Given the description of an element on the screen output the (x, y) to click on. 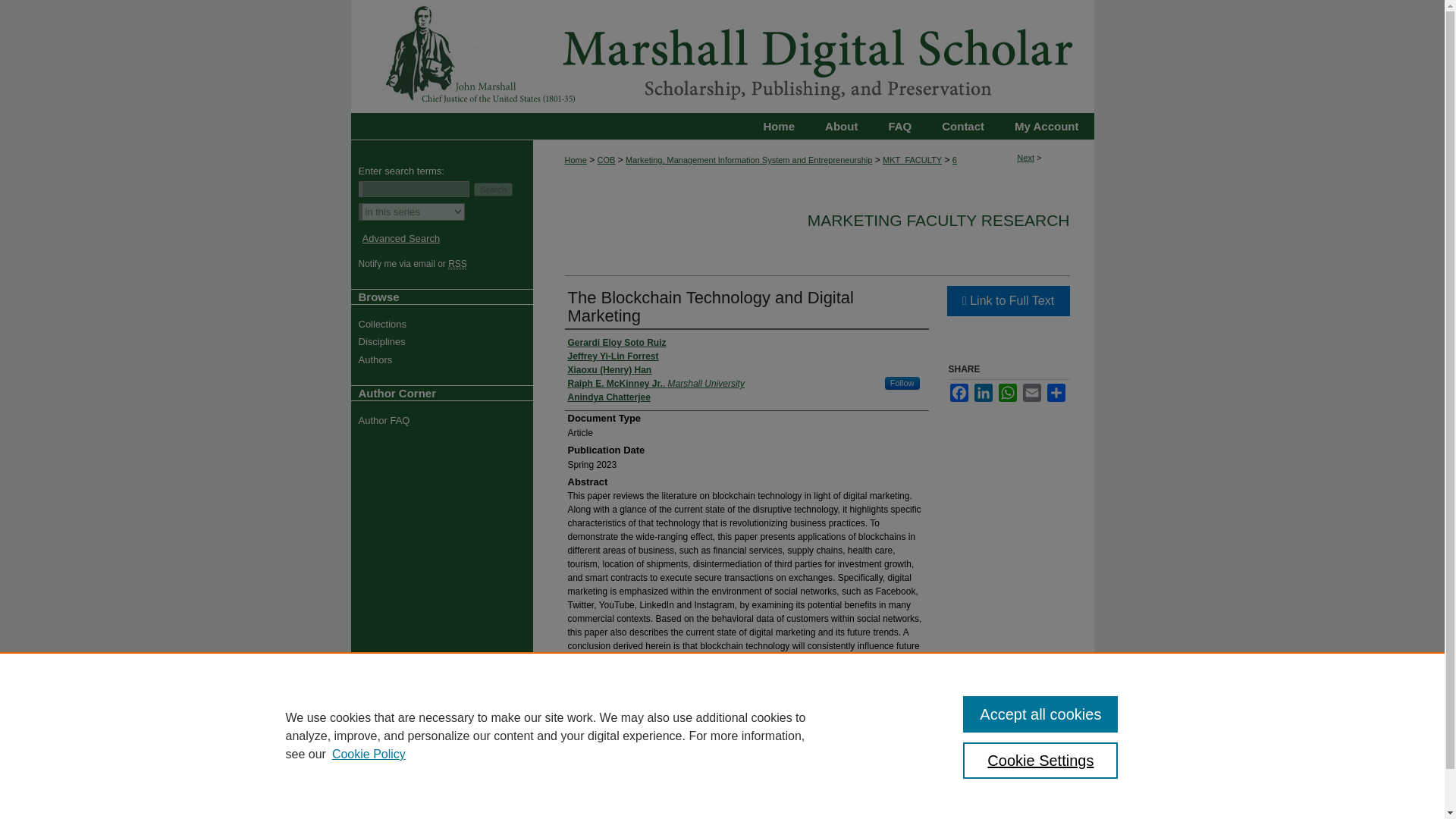
Disciplines (447, 341)
Jeffrey Yi-Lin Forrest (612, 356)
Share (1055, 393)
Home (778, 126)
Link to Full Text (1007, 300)
Follow Ralph E. McKinney Jr. (902, 382)
Advanced Search (401, 238)
About (841, 126)
Authors (447, 359)
Email (1031, 393)
Browse by Author (447, 359)
My Account (1046, 126)
Follow (902, 382)
WhatsApp (1006, 393)
